Given the description of an element on the screen output the (x, y) to click on. 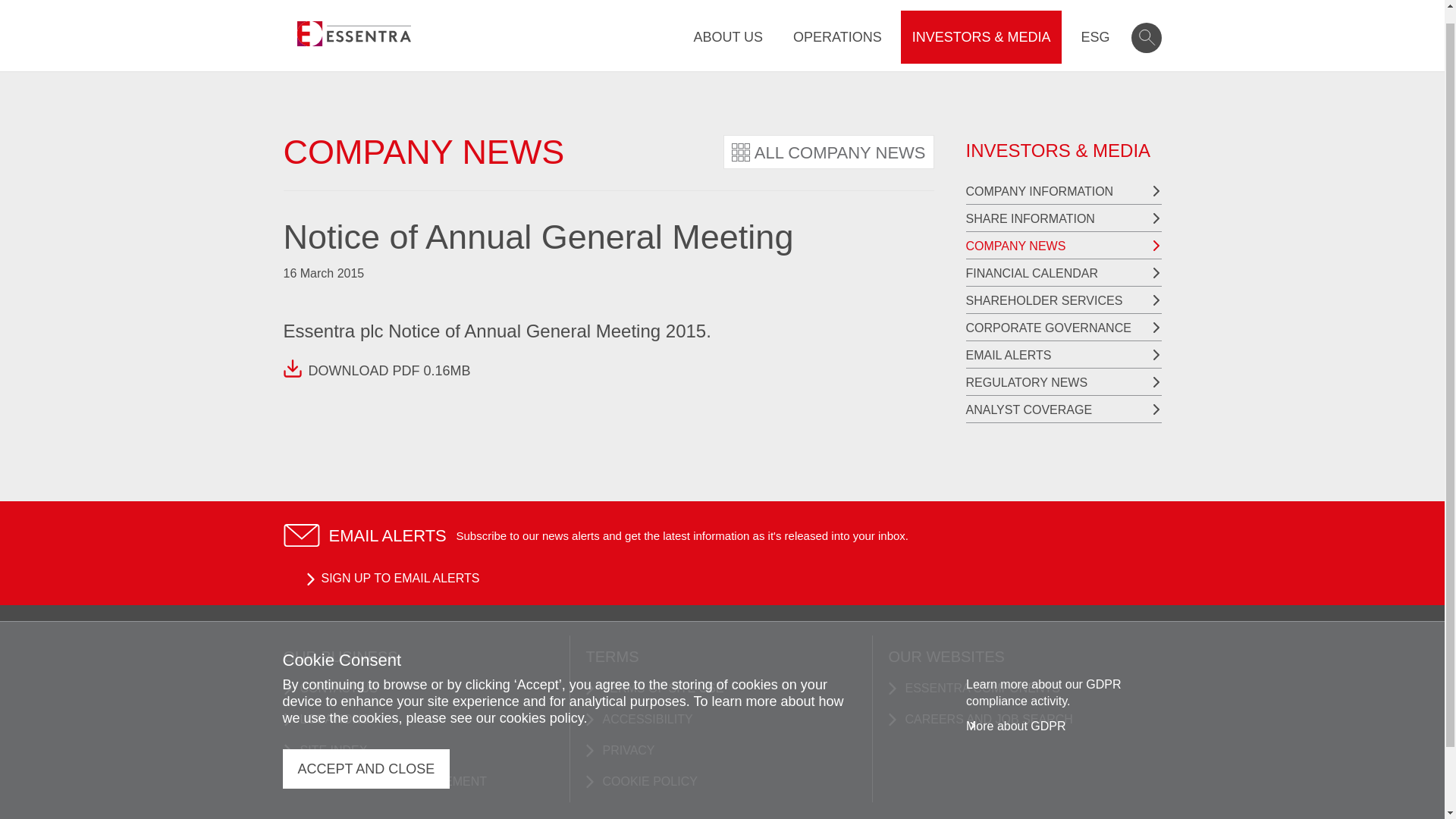
ACCEPT AND CLOSE (365, 753)
OPERATIONS (837, 24)
ESG (1094, 24)
SEARCH (1146, 23)
ABOUT US (727, 24)
cookies policy. (543, 703)
More about GDPR (1015, 711)
